Given the description of an element on the screen output the (x, y) to click on. 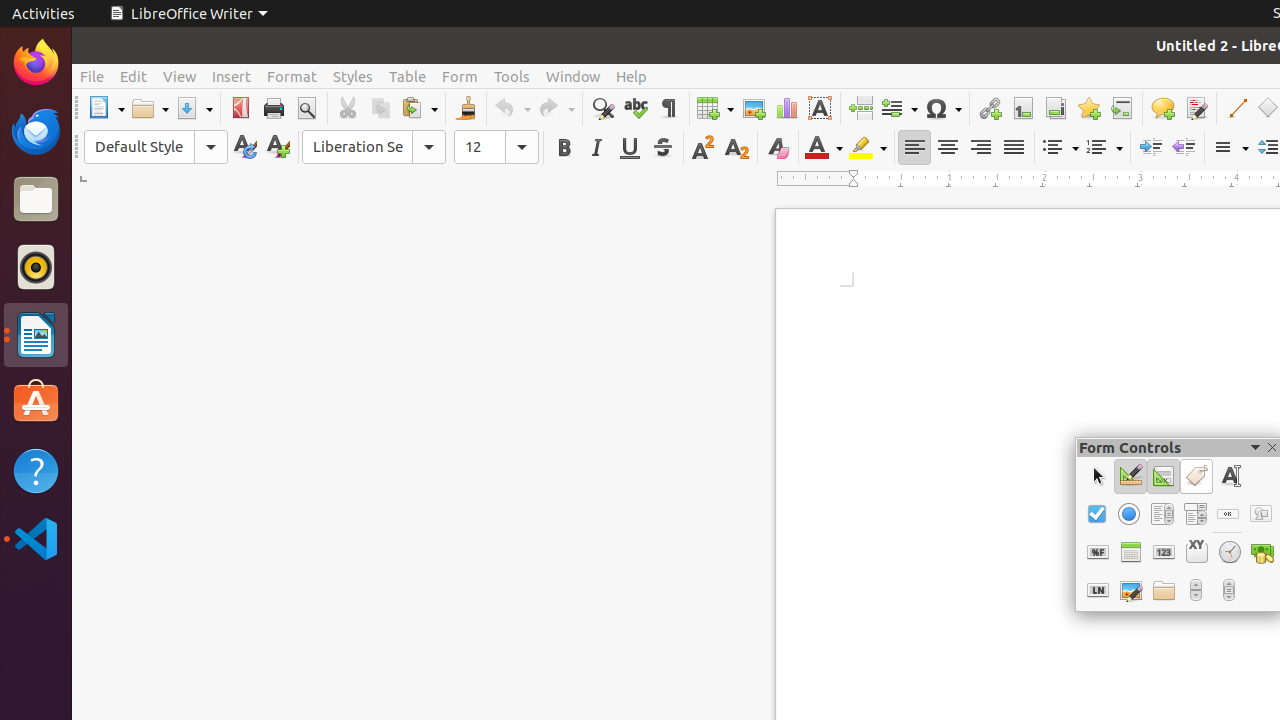
Ubuntu Software Element type: push-button (36, 402)
Toggle Design Mode Element type: toggle-button (1130, 476)
Formatted Field Element type: toggle-button (1097, 552)
Thunderbird Mail Element type: push-button (36, 131)
Push Button Element type: toggle-button (1227, 514)
